Given the description of an element on the screen output the (x, y) to click on. 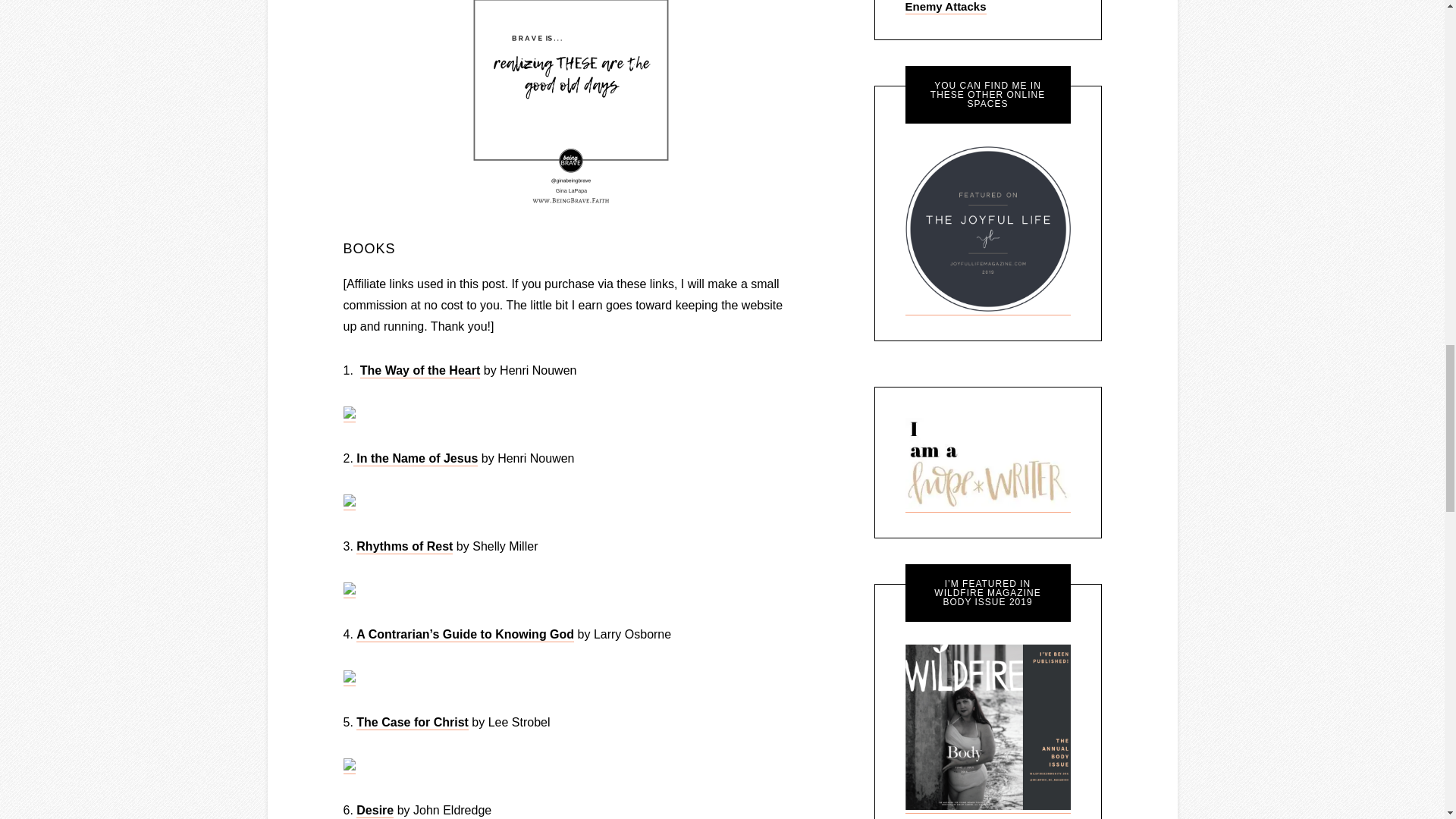
Rhythms of Rest (404, 546)
The Way of the Heart (419, 370)
The Case for Christ (412, 722)
In the Name of Jesus (416, 459)
Desire (374, 810)
